Given the description of an element on the screen output the (x, y) to click on. 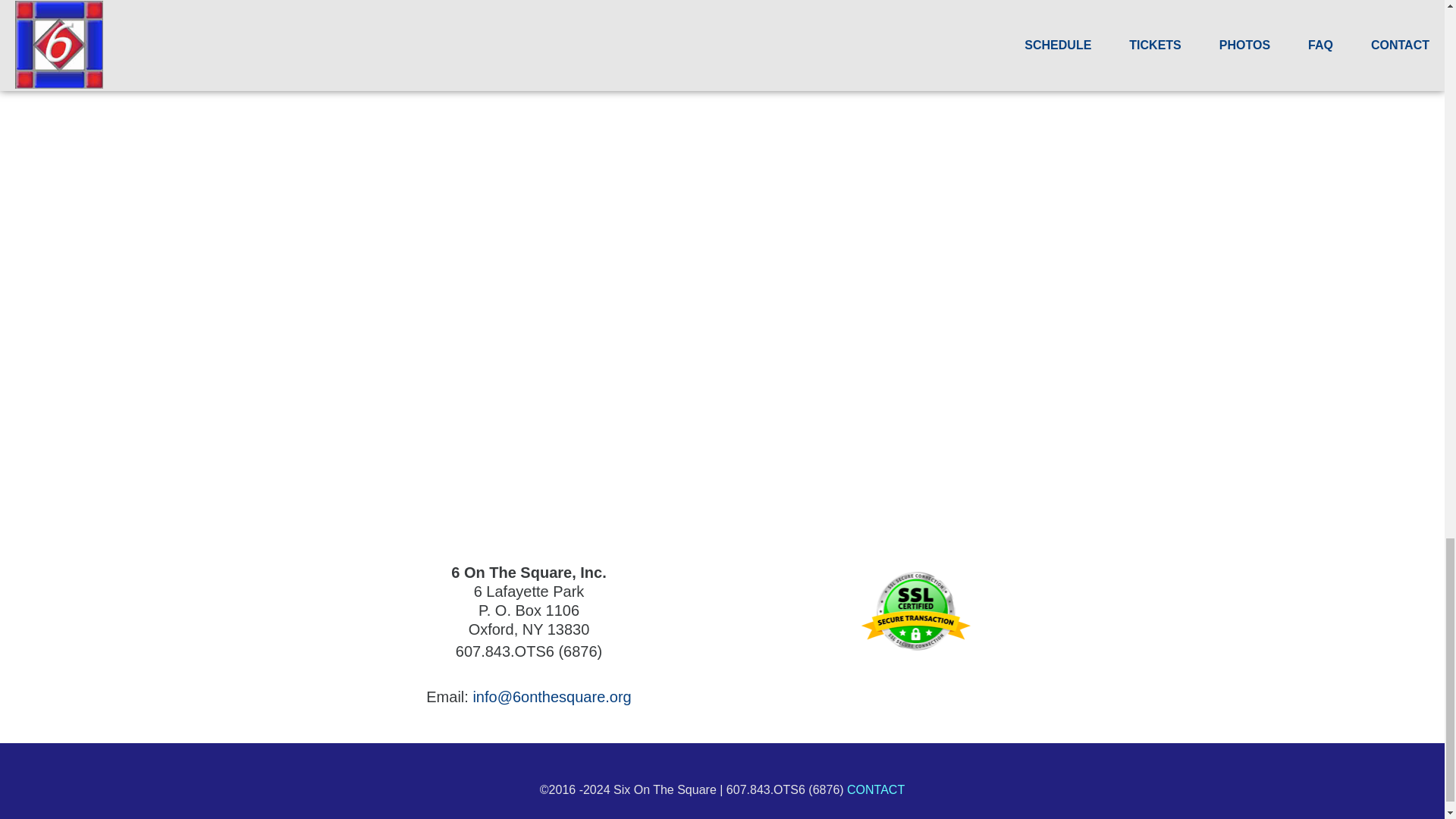
CONTACT (875, 789)
